Given the description of an element on the screen output the (x, y) to click on. 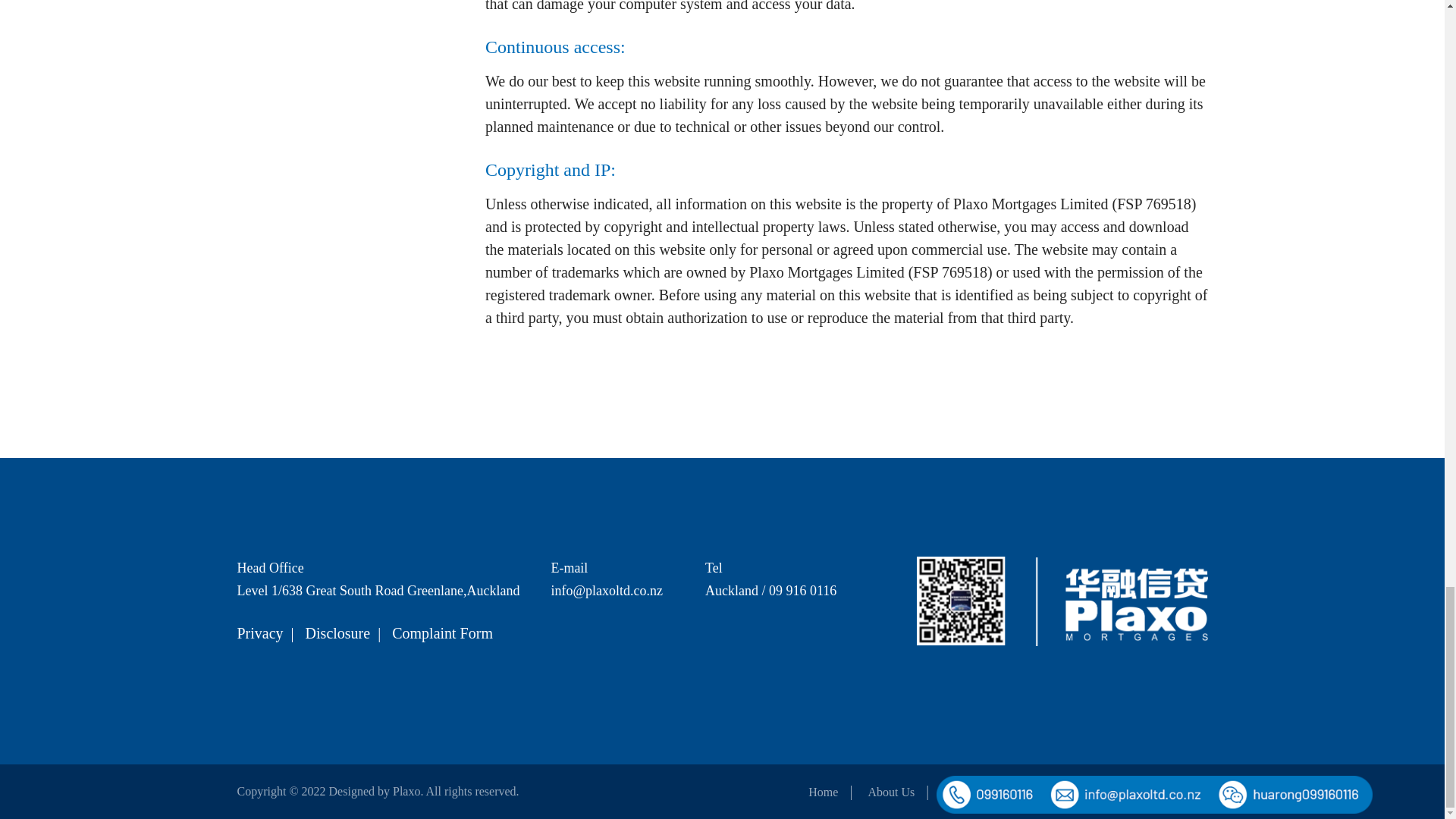
Complaint Form (442, 632)
Services (964, 791)
Home (823, 791)
Contact Us (1041, 791)
Privacy (258, 632)
About Us (890, 791)
09 916 0116 (801, 590)
Disclosure (338, 632)
Important Information (1153, 791)
